Given the description of an element on the screen output the (x, y) to click on. 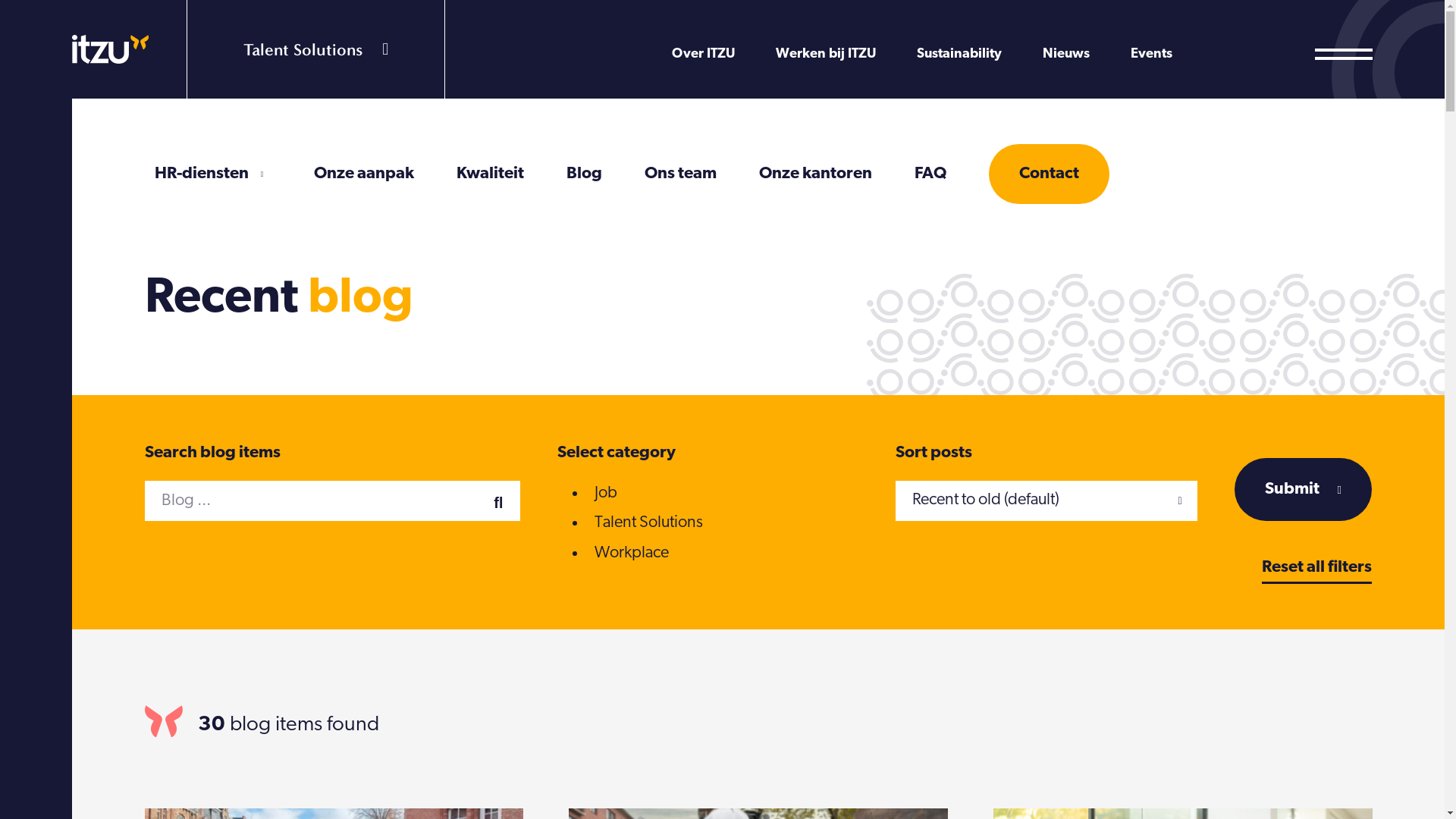
HR-diensten Element type: text (201, 173)
Workplace Element type: text (631, 552)
Nieuws Element type: text (1065, 54)
Contact Element type: text (1048, 173)
Sustainability Element type: text (958, 54)
Talent Solutions Element type: text (315, 49)
Onze kantoren Element type: text (814, 173)
Submit Element type: text (1302, 489)
FAQ Element type: text (930, 173)
Werken bij ITZU Element type: text (825, 54)
Onze aanpak Element type: text (363, 173)
Overslaan en naar de inhoud gaan Element type: text (0, 0)
Kwaliteit Element type: text (490, 173)
Home Element type: hover (110, 48)
Talent Solutions Element type: text (648, 522)
Events Element type: text (1151, 54)
Blog Element type: text (583, 173)
Reset all filters Element type: text (1316, 566)
Ons team Element type: text (680, 173)
Job Element type: text (605, 492)
Open the navigation
Close the navigation Element type: text (1343, 54)
Over ITZU Element type: text (702, 54)
